Given the description of an element on the screen output the (x, y) to click on. 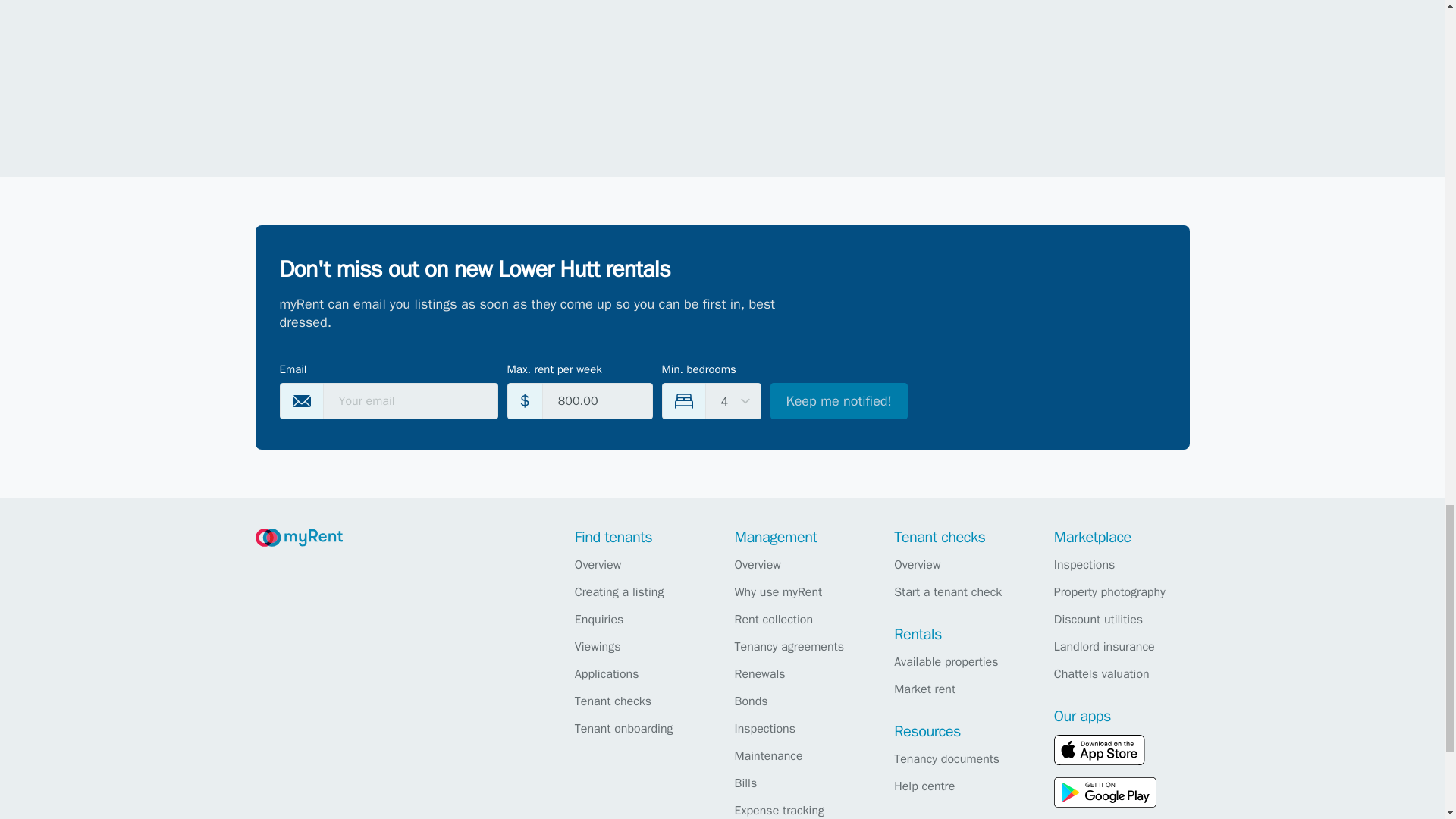
Keep me notified! (838, 401)
Tenant checks (639, 701)
Creating a listing (639, 592)
Overview (639, 565)
Enquiries (639, 619)
Viewings (639, 647)
Find tenants (613, 537)
800.00 (596, 401)
Applications (639, 674)
Keep me notified! (838, 401)
